Given the description of an element on the screen output the (x, y) to click on. 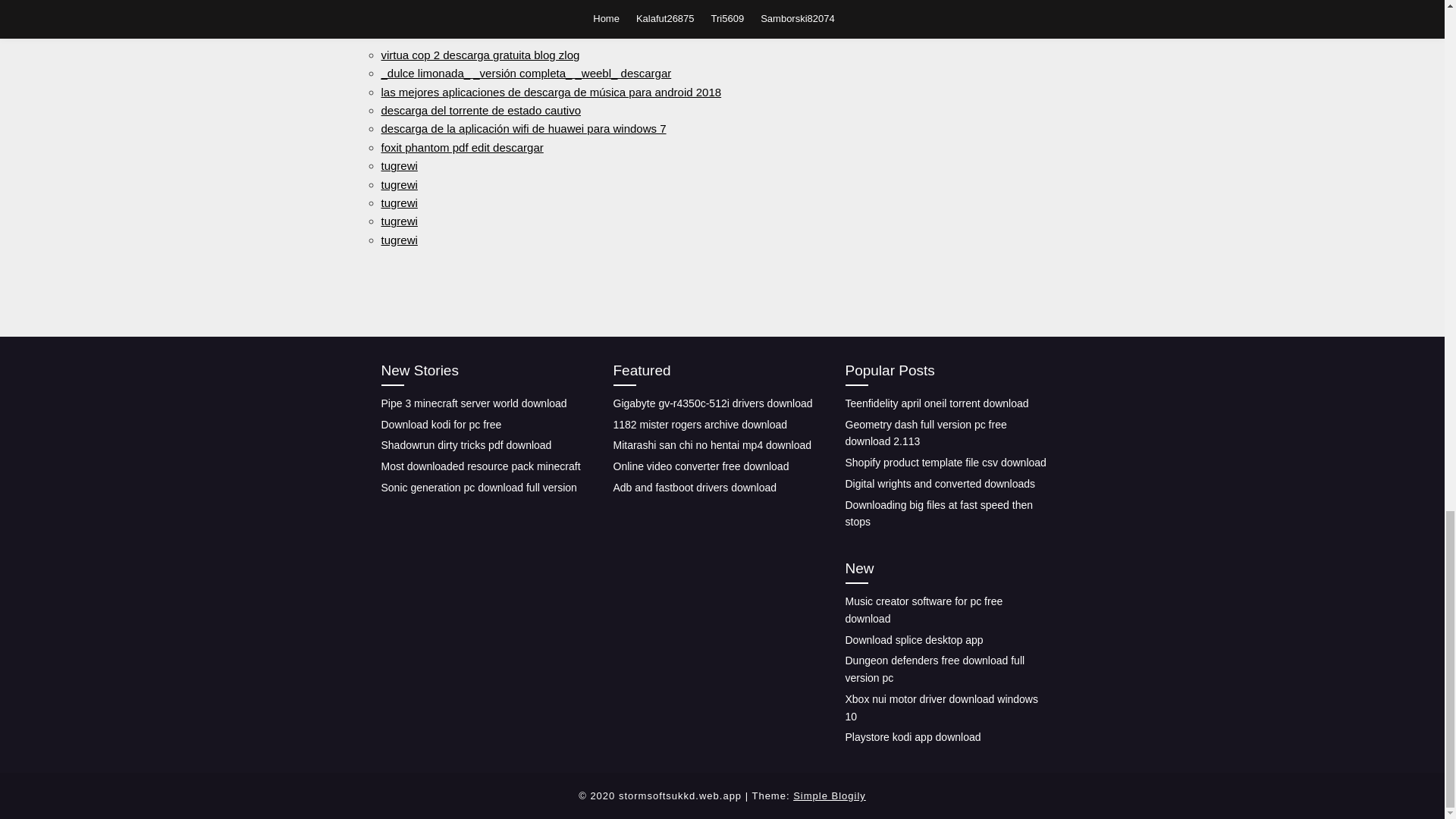
Playstore kodi app download (911, 736)
Dungeon defenders free download full version pc (934, 668)
Sonic generation pc download full version (478, 487)
Gigabyte gv-r4350c-512i drivers download (712, 403)
virtua cop 2 descarga gratuita blog zlog (479, 54)
Xbox nui motor driver download windows 10 (940, 707)
Download kodi for pc free (440, 424)
Digital wrights and converted downloads (939, 483)
tugrewi (398, 183)
Download splice desktop app (913, 639)
Shopify product template file csv download (944, 462)
Teenfidelity april oneil torrent download (935, 403)
foxit phantom pdf edit descargar (461, 146)
Downloading big files at fast speed then stops (938, 513)
Geometry dash full version pc free download 2.113 (925, 432)
